Given the description of an element on the screen output the (x, y) to click on. 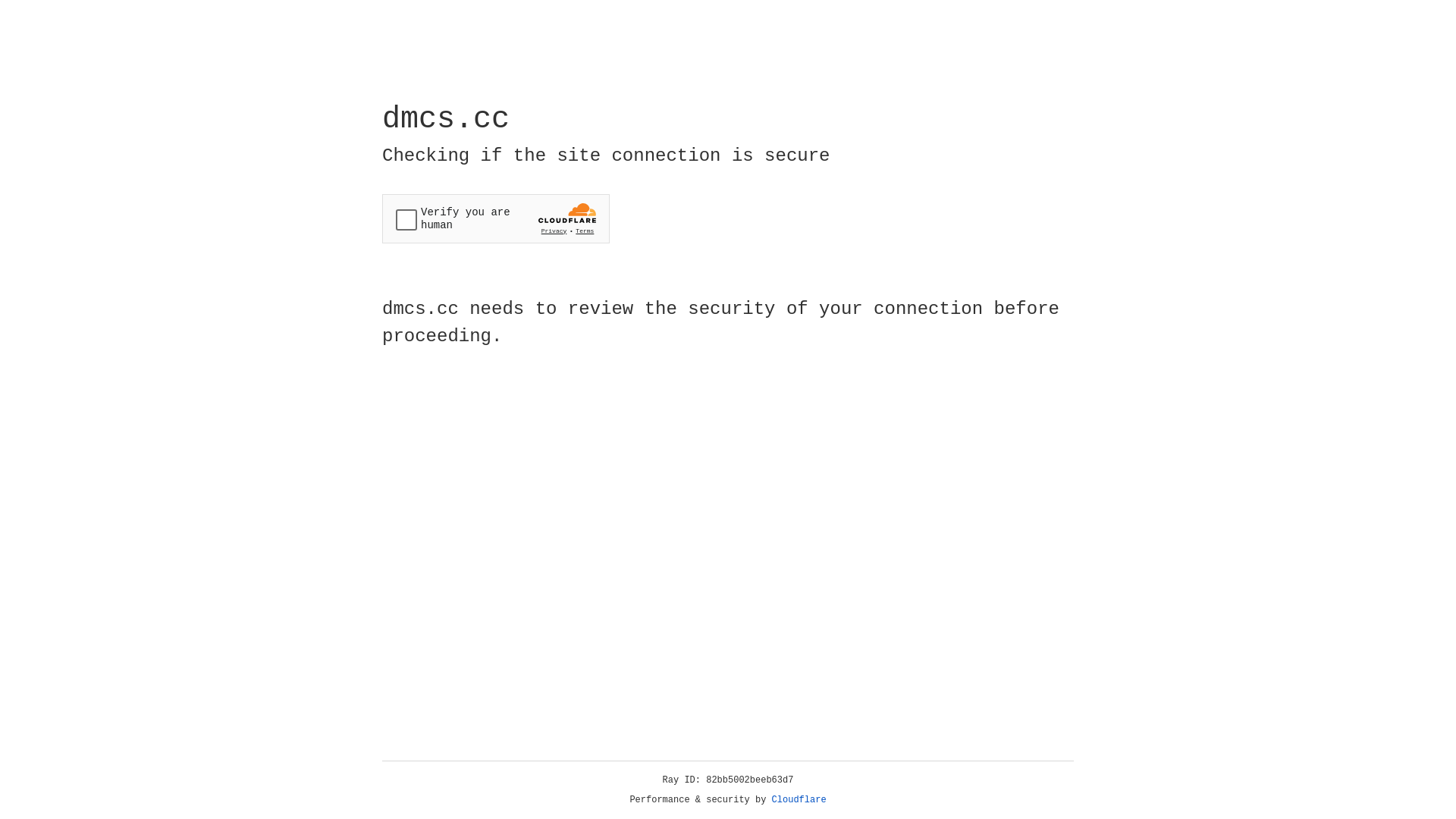
Cloudflare Element type: text (798, 799)
Widget containing a Cloudflare security challenge Element type: hover (495, 218)
